Given the description of an element on the screen output the (x, y) to click on. 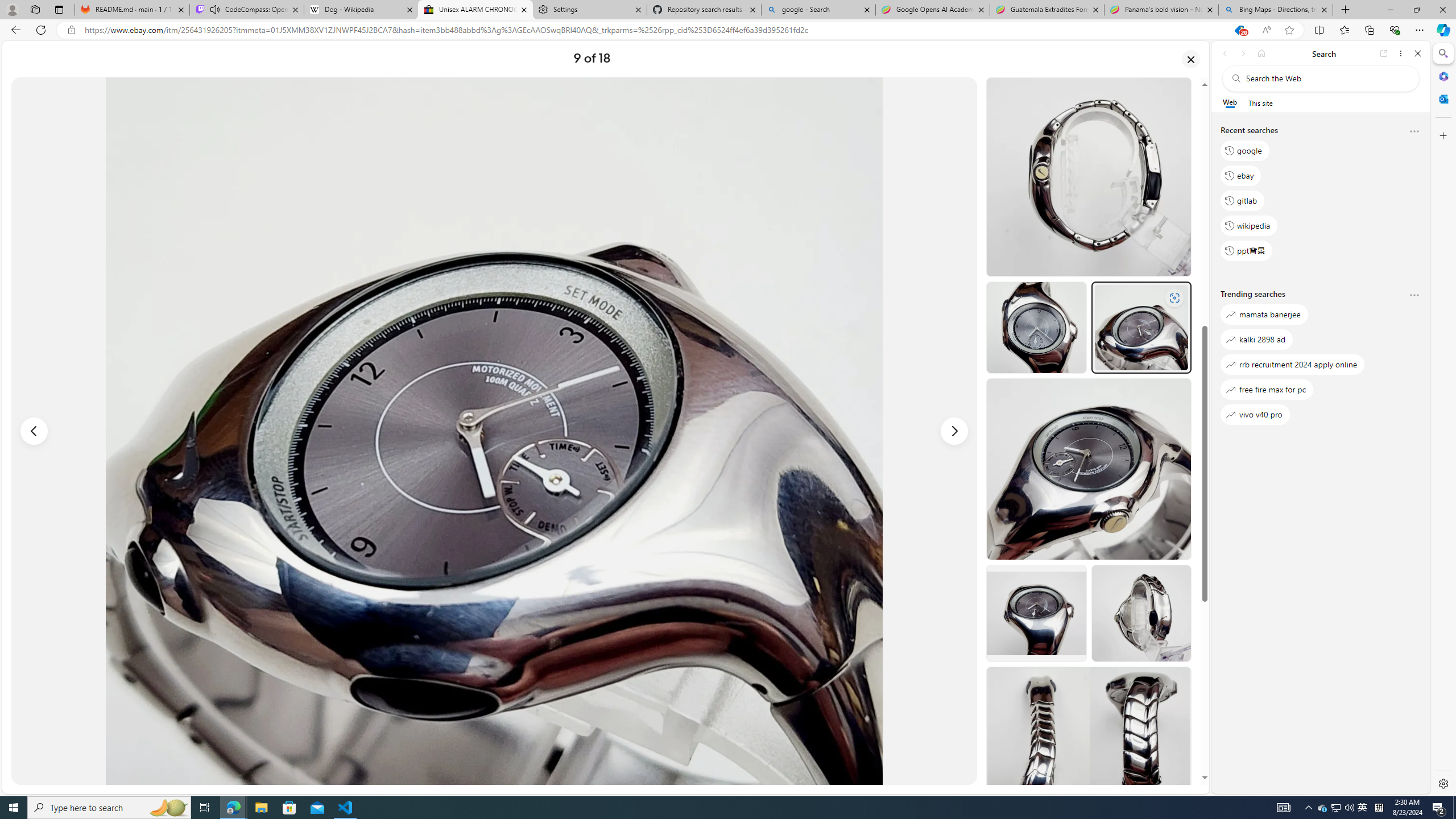
vivo v40 pro (1255, 414)
wikipedia (1249, 225)
Next image - Item images thumbnails (954, 430)
Mute tab (215, 8)
gitlab (1242, 200)
Close image gallery dialog (1190, 58)
